Given the description of an element on the screen output the (x, y) to click on. 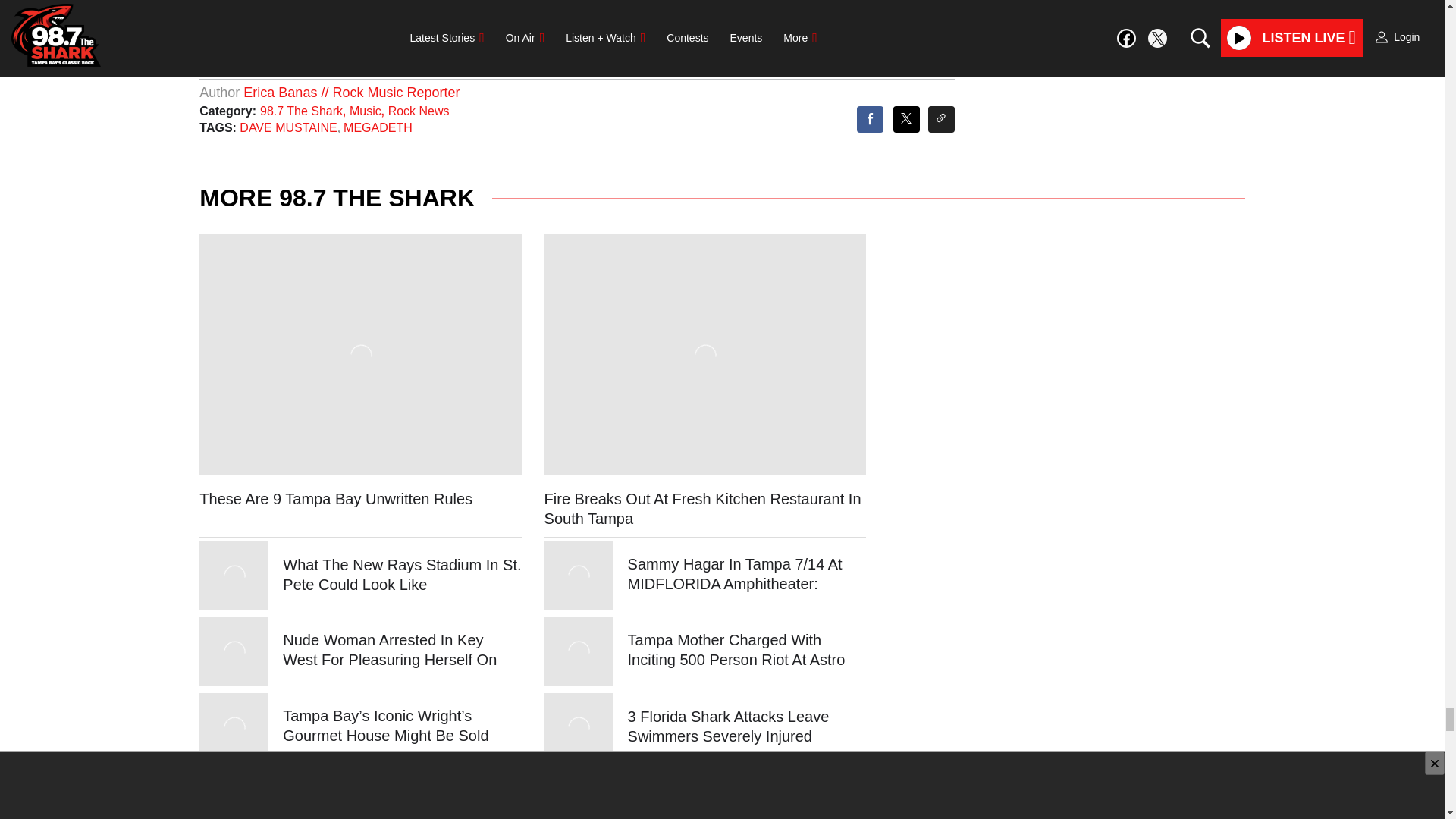
on (430, 13)
